Given the description of an element on the screen output the (x, y) to click on. 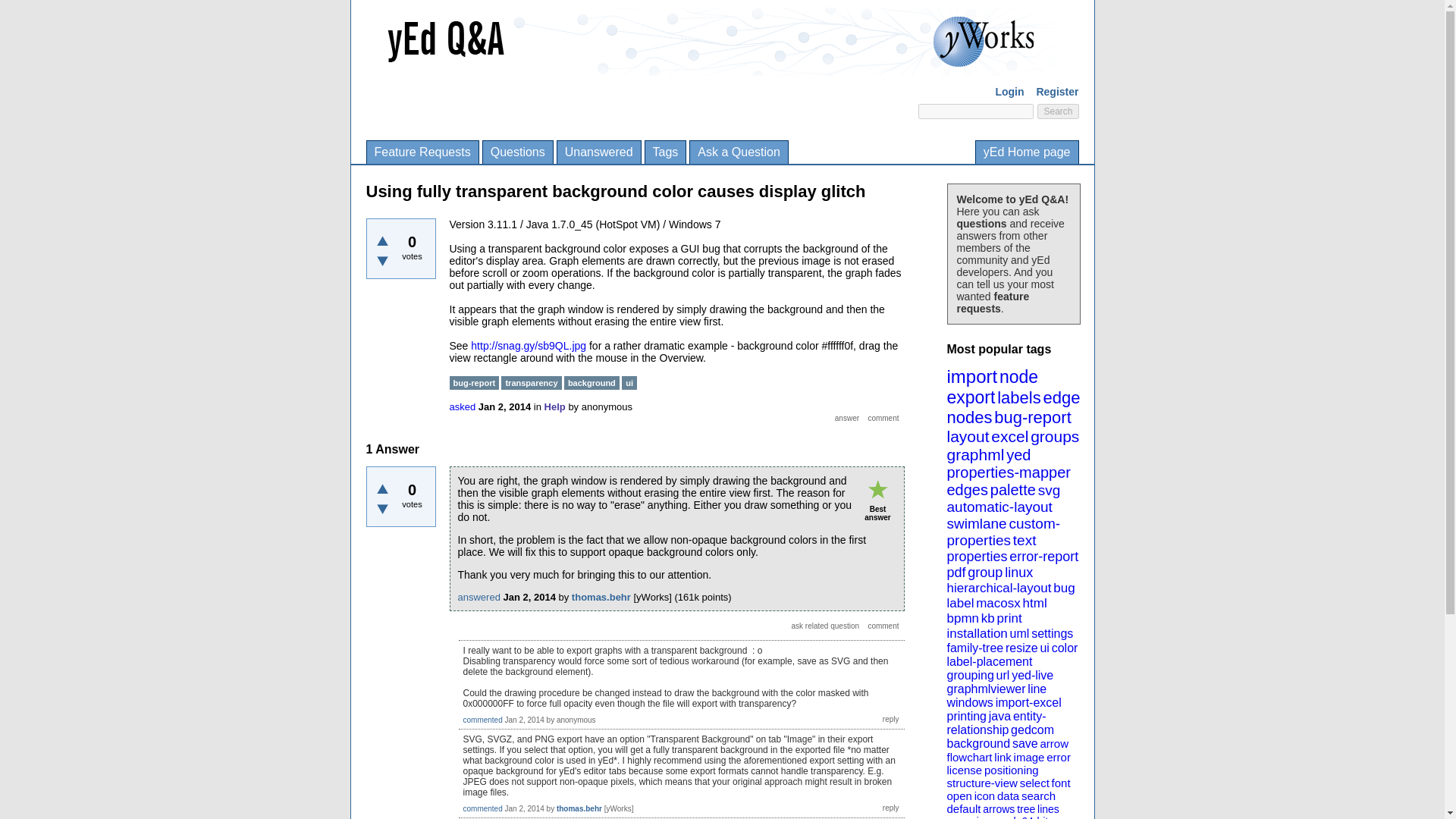
bug-report (1032, 416)
node (1018, 376)
macosx (997, 603)
comment (882, 625)
Unanswered (598, 151)
excel (1009, 436)
error-report (1043, 556)
svg (1049, 489)
palette (1012, 489)
answer (847, 418)
Click to vote up (381, 240)
label (960, 603)
yed (1018, 454)
Click to vote down (381, 260)
Ask a Question (738, 151)
